Given the description of an element on the screen output the (x, y) to click on. 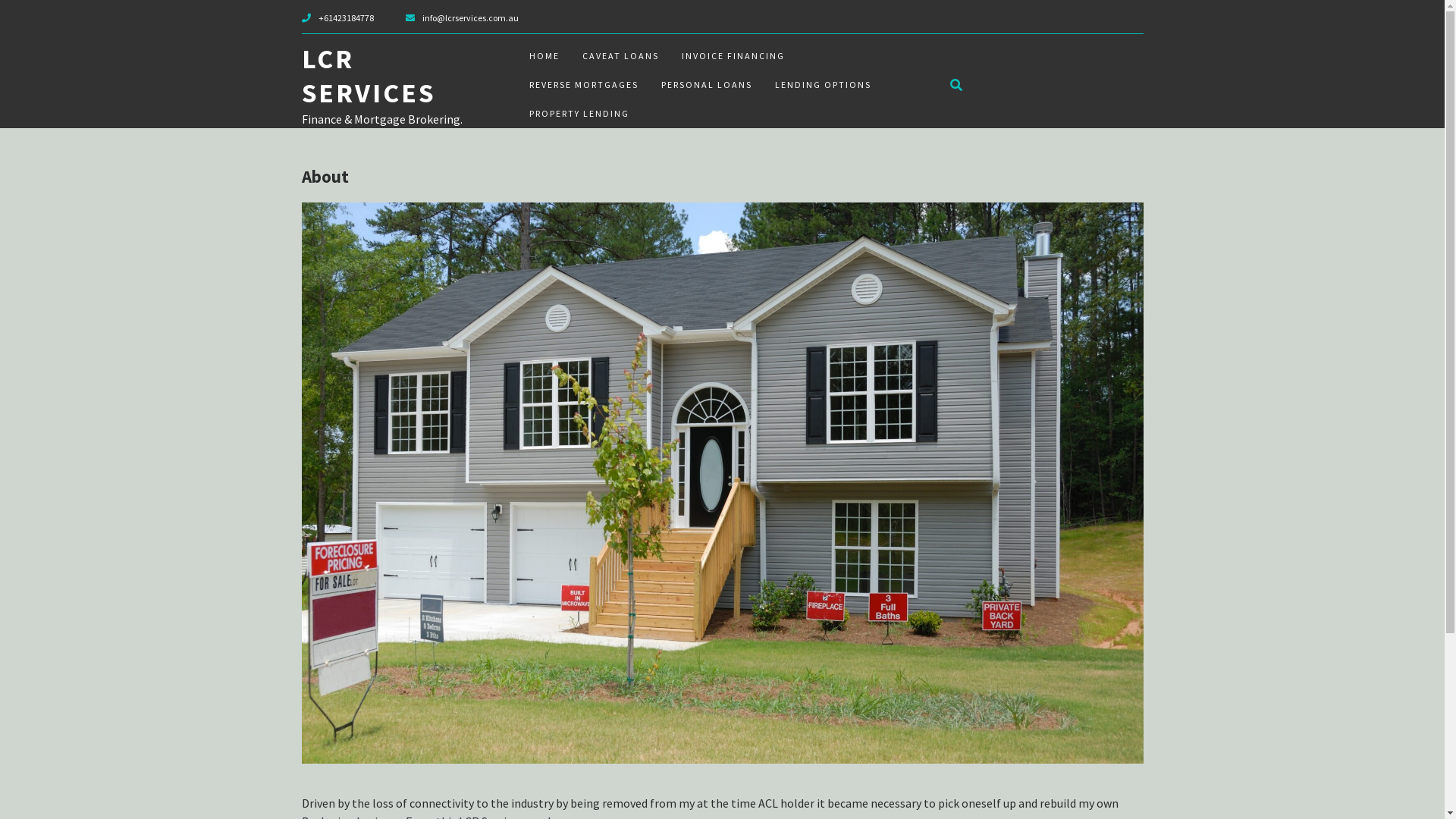
PERSONAL LOANS Element type: text (705, 84)
LCR SERVICES Element type: text (368, 75)
CAVEAT LOANS Element type: text (619, 55)
REVERSE MORTGAGES Element type: text (583, 84)
PROPERTY LENDING Element type: text (578, 113)
HOME Element type: text (543, 55)
LENDING OPTIONS Element type: text (821, 84)
INVOICE FINANCING Element type: text (733, 55)
